Given the description of an element on the screen output the (x, y) to click on. 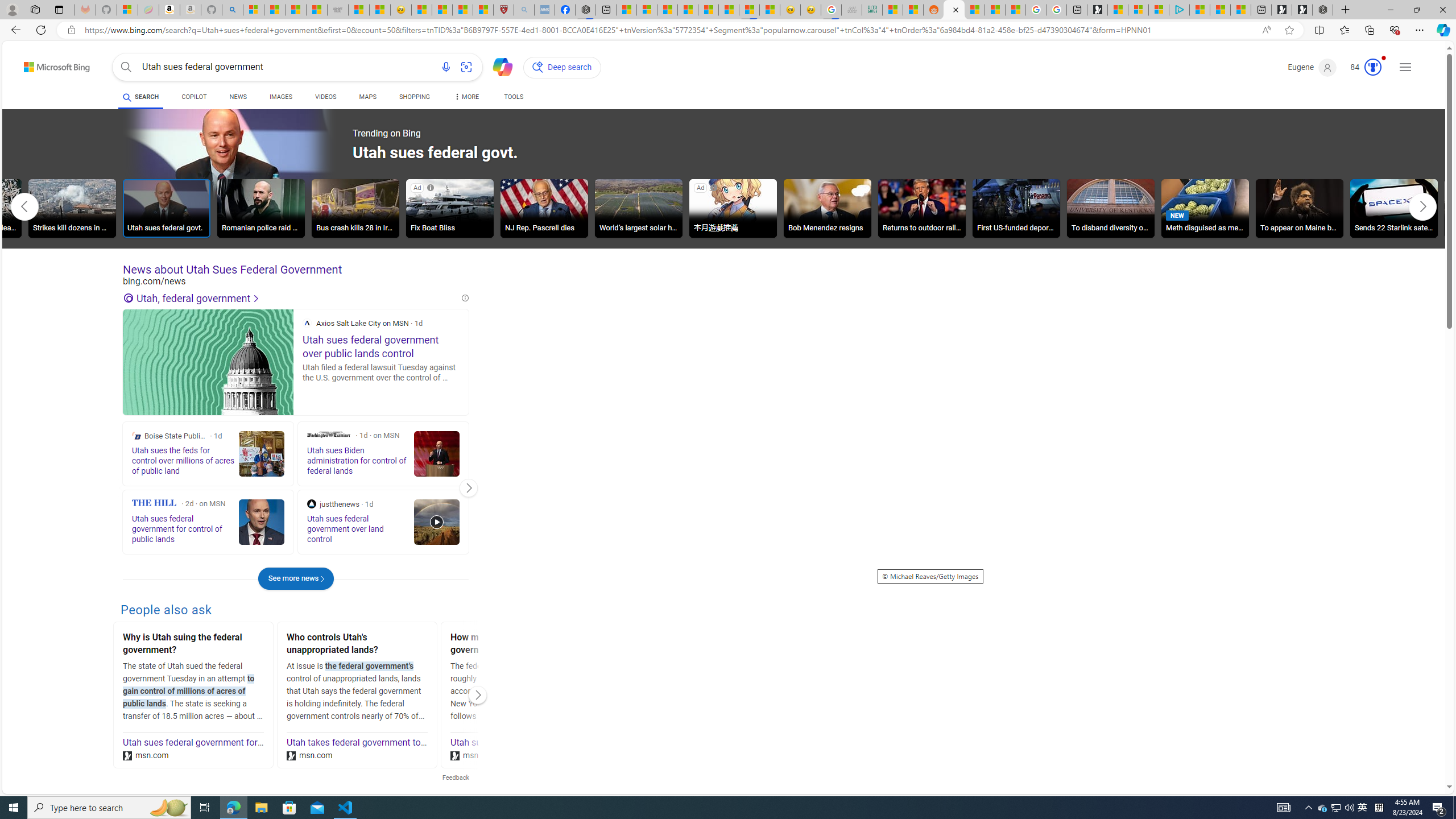
To appear on Maine ballot (1299, 207)
Strikes kill dozens in Gaza (72, 209)
Animation (1383, 57)
How much land does the federal government own in Utah? (520, 645)
COPILOT (193, 96)
AutomationID: tob_right_arrow (1422, 206)
Axios Salt Lake City on MSN (306, 322)
